Given the description of an element on the screen output the (x, y) to click on. 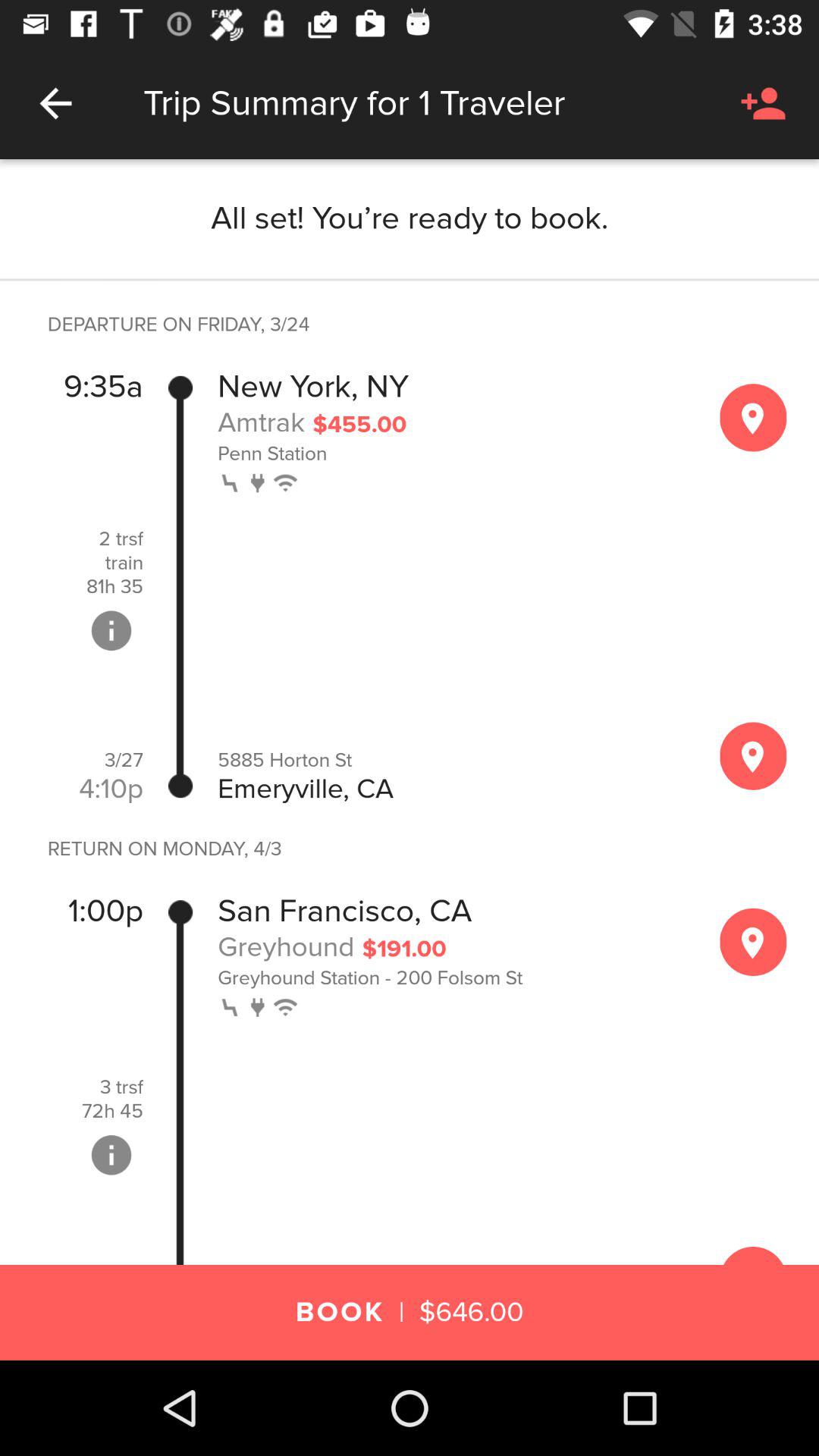
location (753, 941)
